Given the description of an element on the screen output the (x, y) to click on. 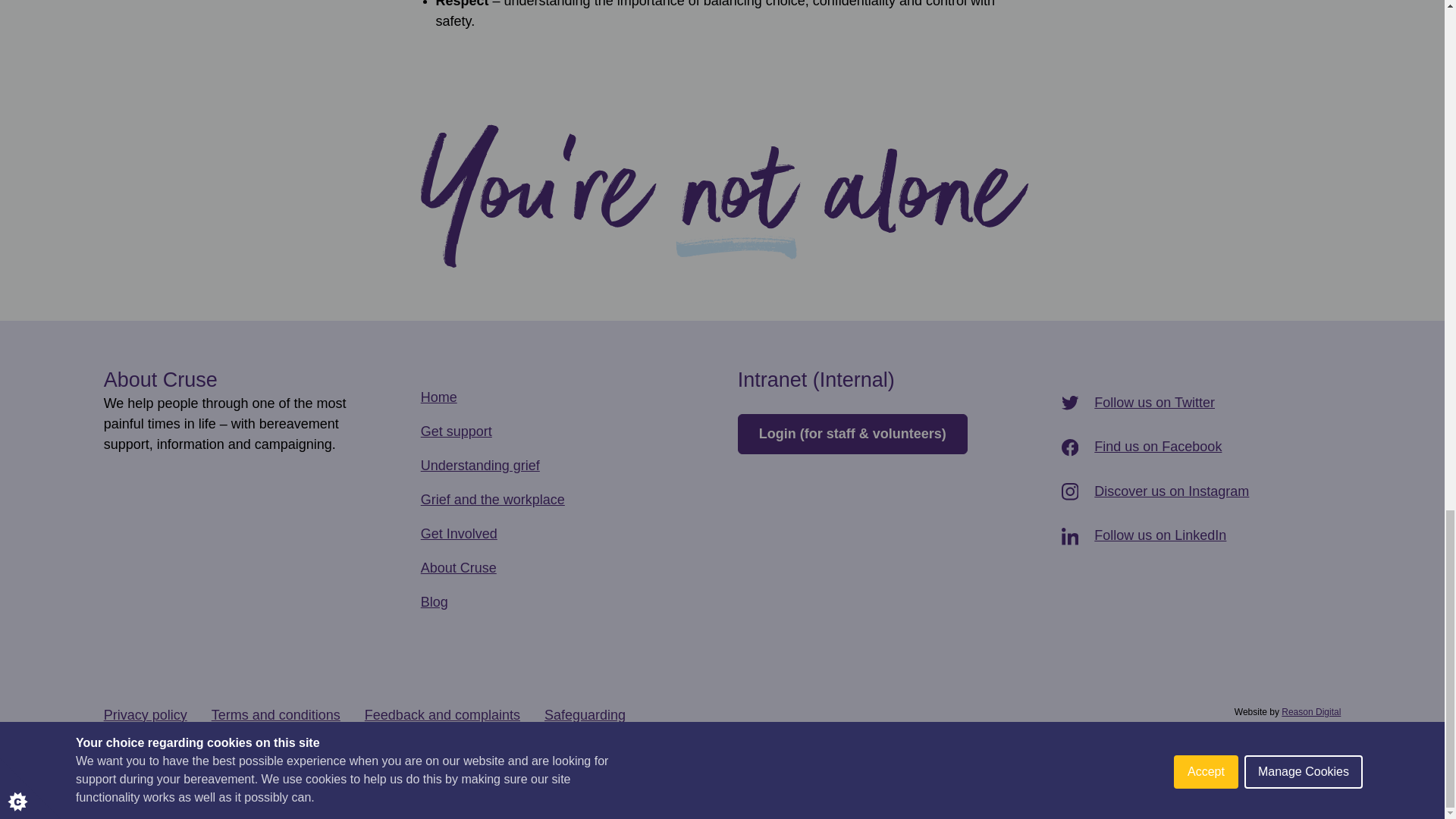
Home (438, 396)
Get support (456, 431)
Understanding grief (480, 465)
